Given the description of an element on the screen output the (x, y) to click on. 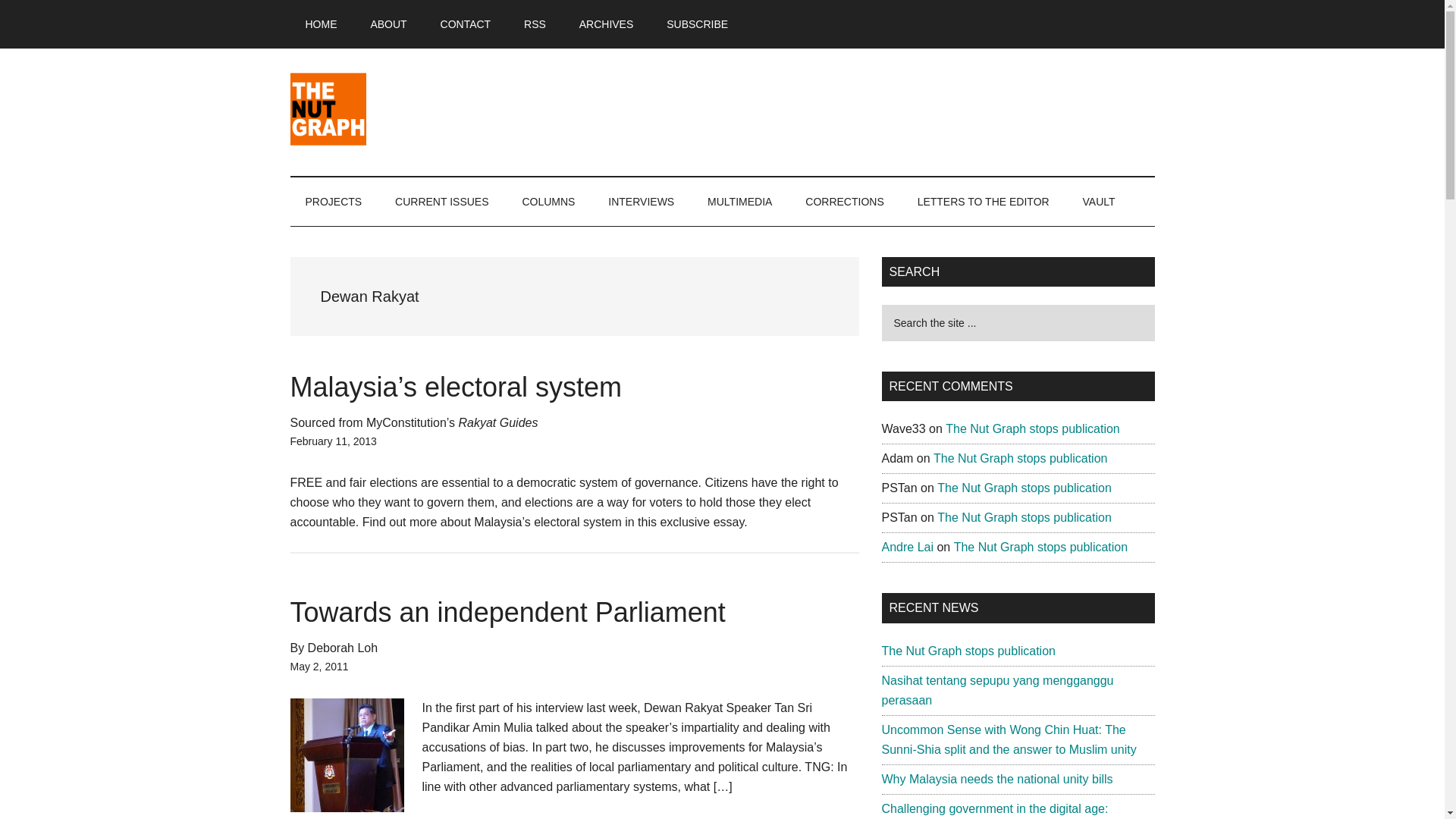
CURRENT ISSUES (441, 201)
HOME (320, 24)
ARCHIVES (606, 24)
PROJECTS (333, 201)
CORRECTIONS (844, 201)
SUBSCRIBE (696, 24)
ABOUT (388, 24)
VAULT (1099, 201)
LETTERS TO THE EDITOR (983, 201)
Towards an independent Parliament (507, 612)
INTERVIEWS (640, 201)
COLUMNS (547, 201)
CONTACT (465, 24)
